Given the description of an element on the screen output the (x, y) to click on. 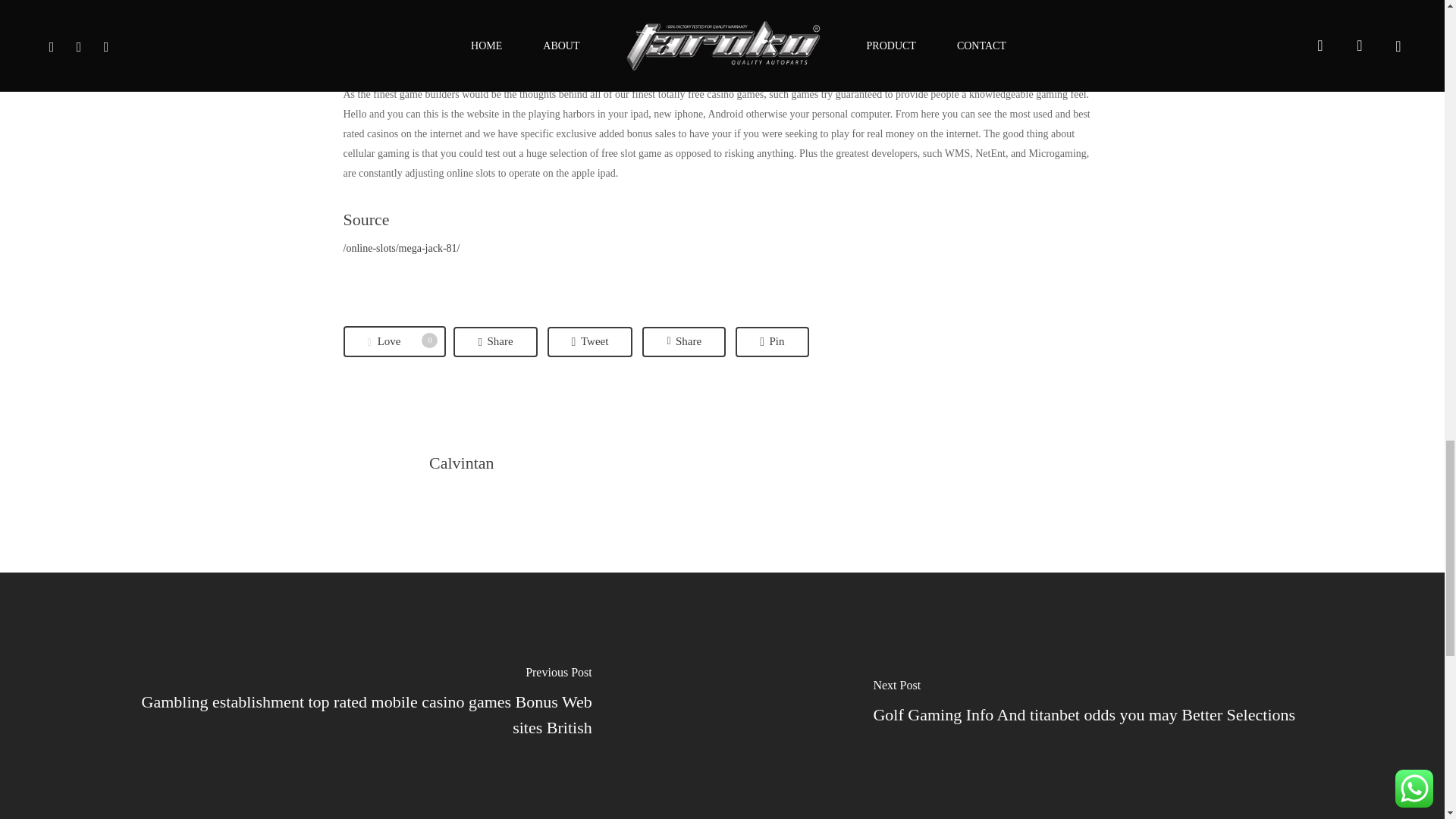
Pin this (771, 341)
Tweet (590, 341)
Pin (771, 341)
Calvintan (462, 462)
Love this (393, 341)
Tweet this (590, 341)
Share (494, 341)
Share this (683, 341)
Share (393, 341)
Share this (683, 341)
